Given the description of an element on the screen output the (x, y) to click on. 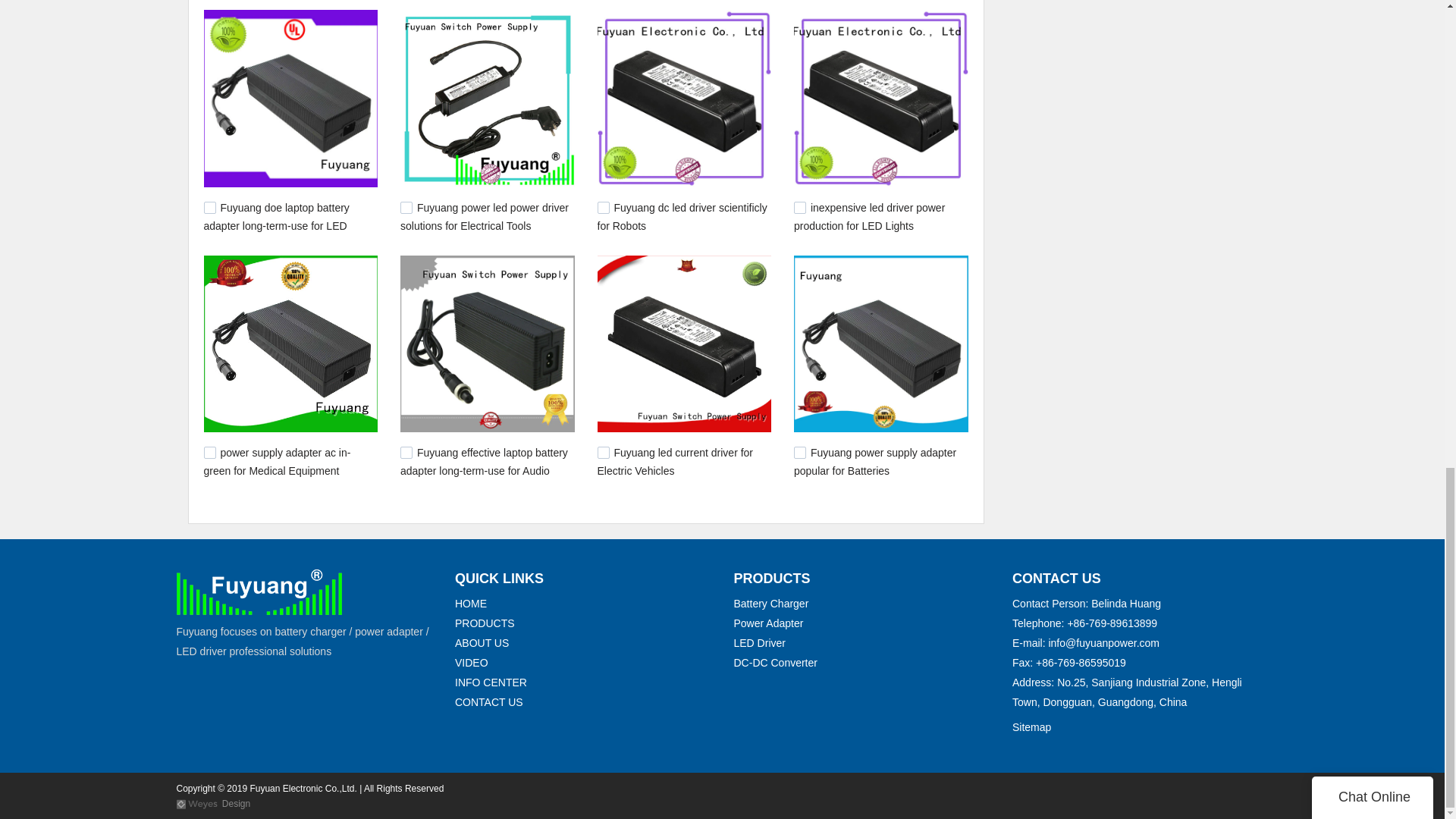
1830 (406, 452)
Fuyuang dc led driver scientificly for Robots (681, 216)
Fuyuang dc led driver scientificly for Robots (681, 216)
1810 (603, 452)
Fuyuang power supply adapter popular for Batteries (874, 461)
1985 (406, 207)
1724 (799, 452)
